Given the description of an element on the screen output the (x, y) to click on. 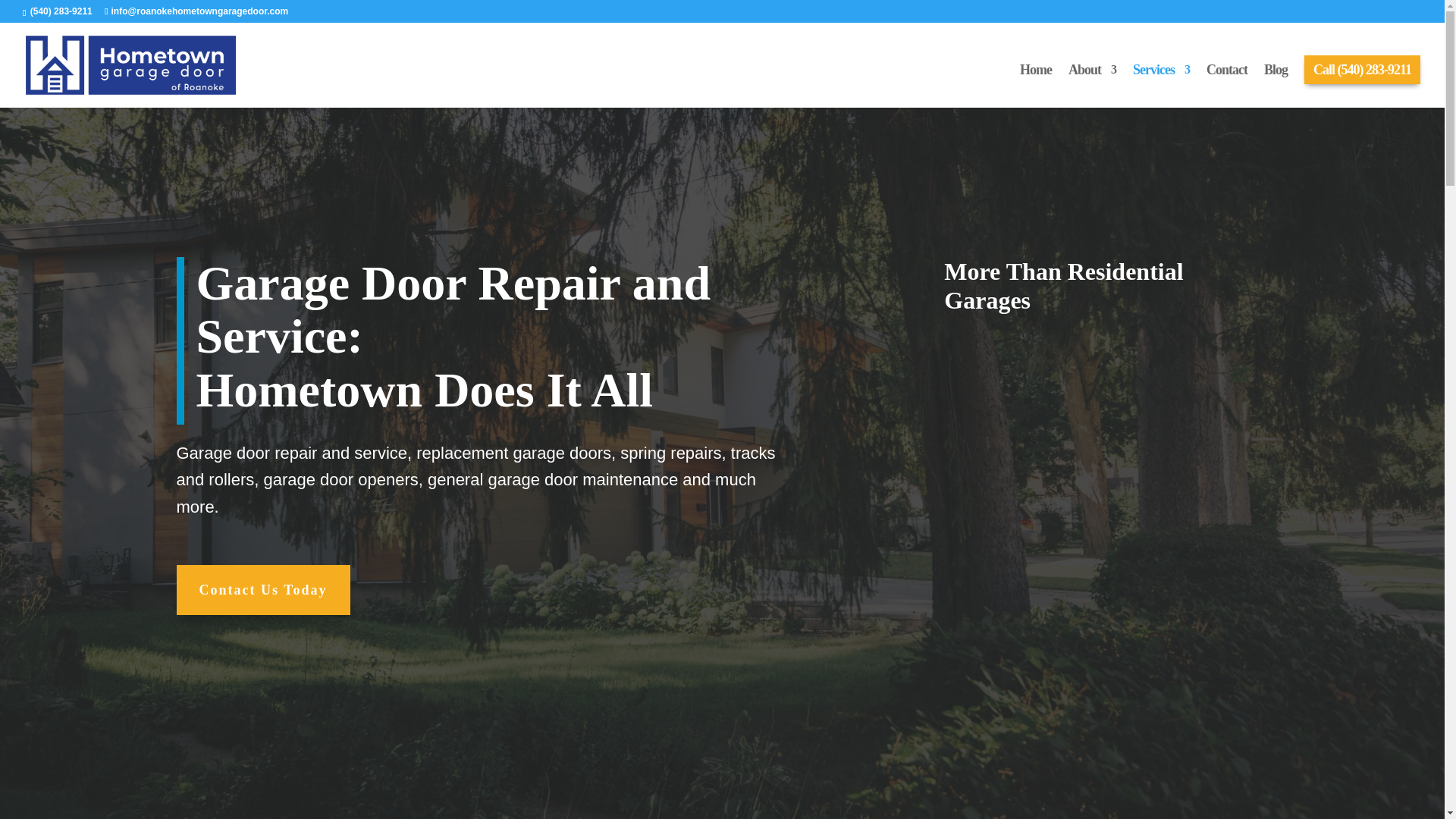
About (1092, 85)
Contact Us Today (262, 589)
Services (1160, 85)
Contact (1227, 85)
